Given the description of an element on the screen output the (x, y) to click on. 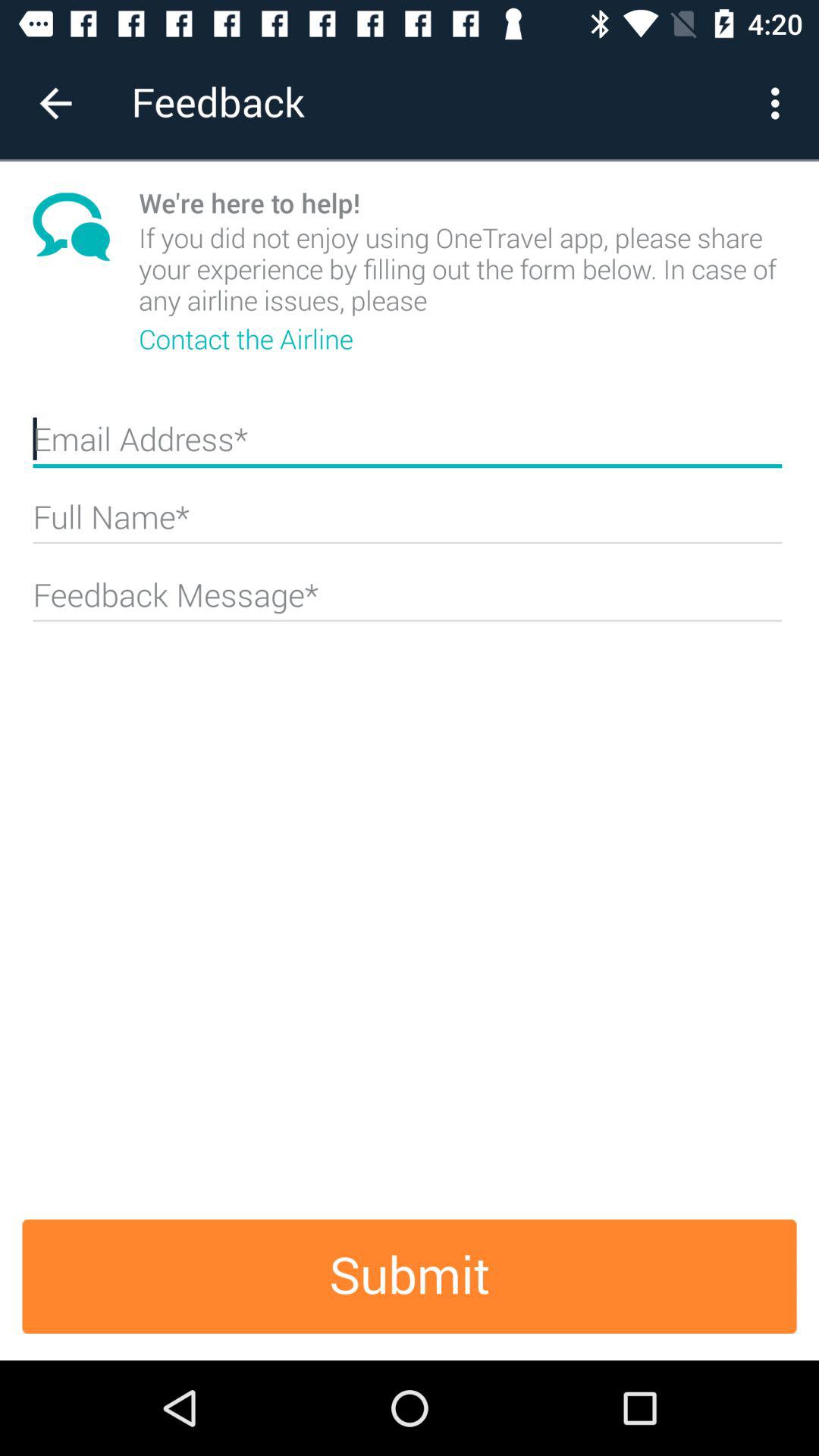
select the field below full name (407, 602)
click the frist name field (407, 445)
click the more button on the top right (779, 103)
click on submit button shown at the bottom of the page (409, 1275)
the blue colored icon below arrow mark at the top left corner of the page (85, 226)
